Given the description of an element on the screen output the (x, y) to click on. 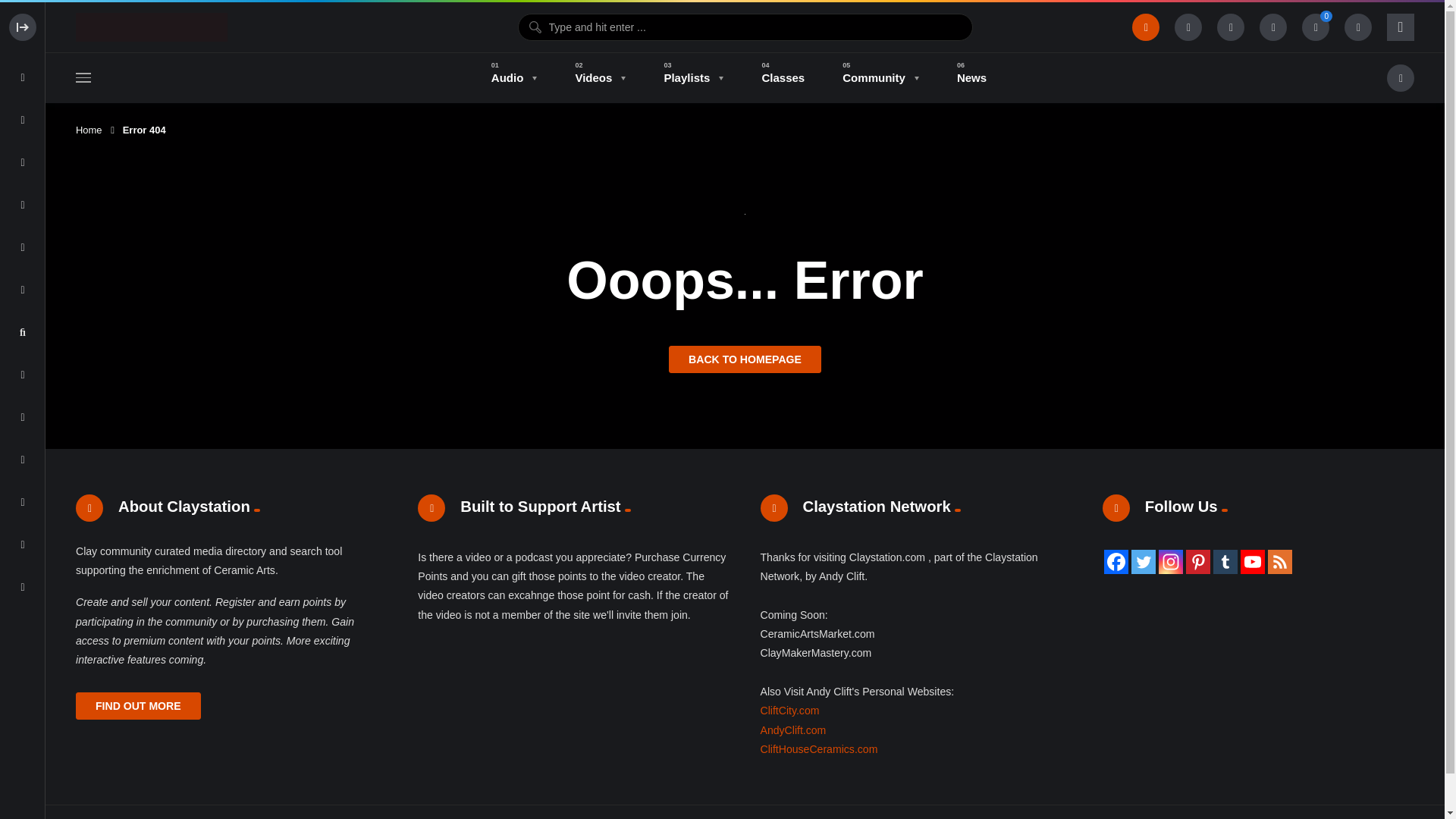
Audio (514, 78)
Twitter (1143, 561)
Claystation (151, 27)
Instagram (1170, 561)
RSS feed (1280, 561)
Tumblr (1224, 561)
0 (1315, 26)
Youtube Channel (1252, 561)
Facebook (1115, 561)
Pinterest (1197, 561)
